Given the description of an element on the screen output the (x, y) to click on. 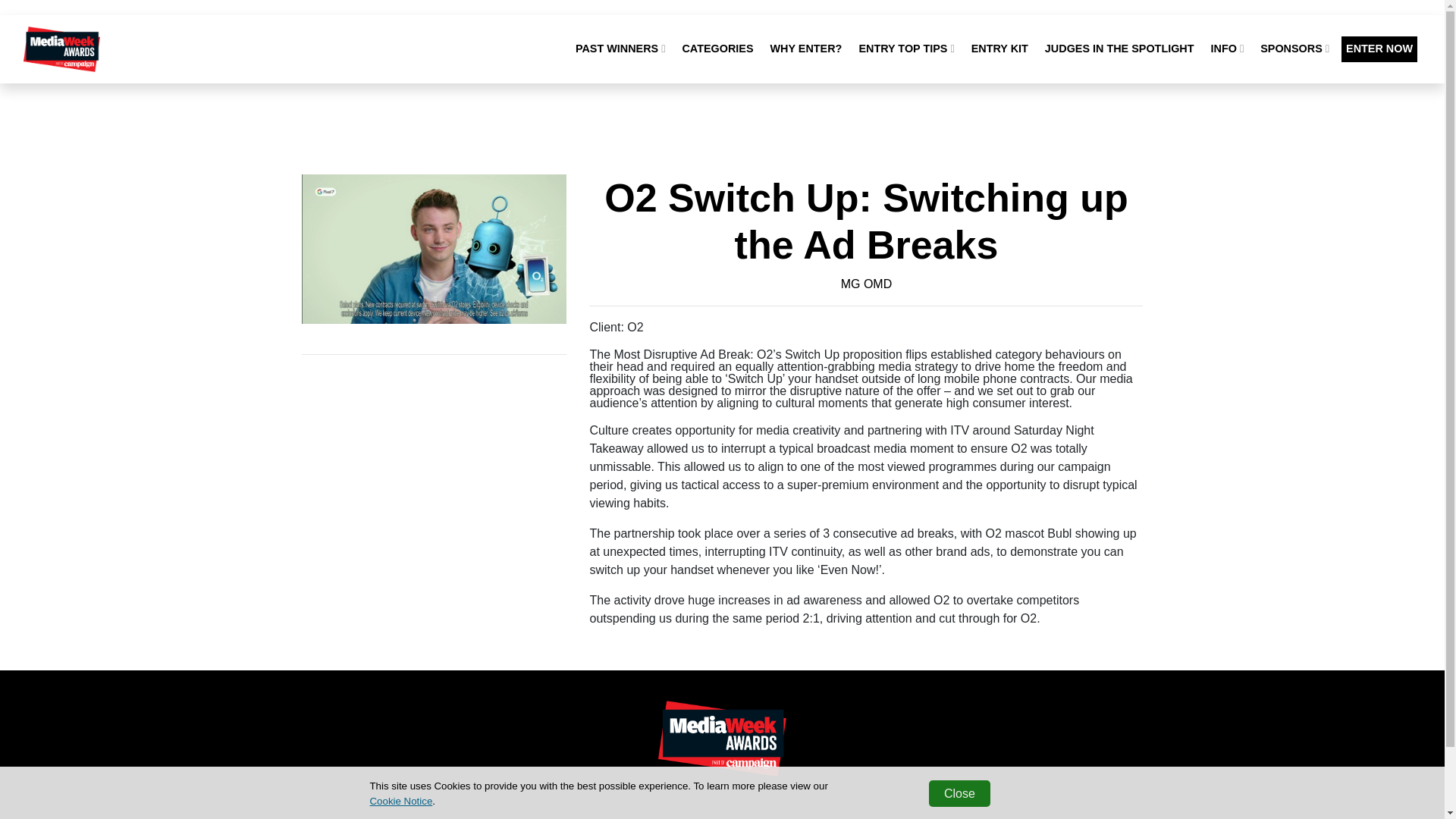
SPONSORS (1294, 49)
ENTRY KIT (999, 49)
JUDGES IN THE SPOTLIGHT (1119, 49)
JUDGES IN THE SPOTLIGHT (1119, 49)
SPONSORS (1294, 49)
CATEGORIES (717, 49)
ENTRY KIT (999, 49)
Close (959, 793)
PAST WINNERS (619, 49)
ENTER NOW (1378, 49)
CATEGORIES (717, 49)
PAST WINNERS (619, 49)
INFO (1228, 49)
INFO (1228, 49)
ENTRY TOP TIPS (905, 49)
